Given the description of an element on the screen output the (x, y) to click on. 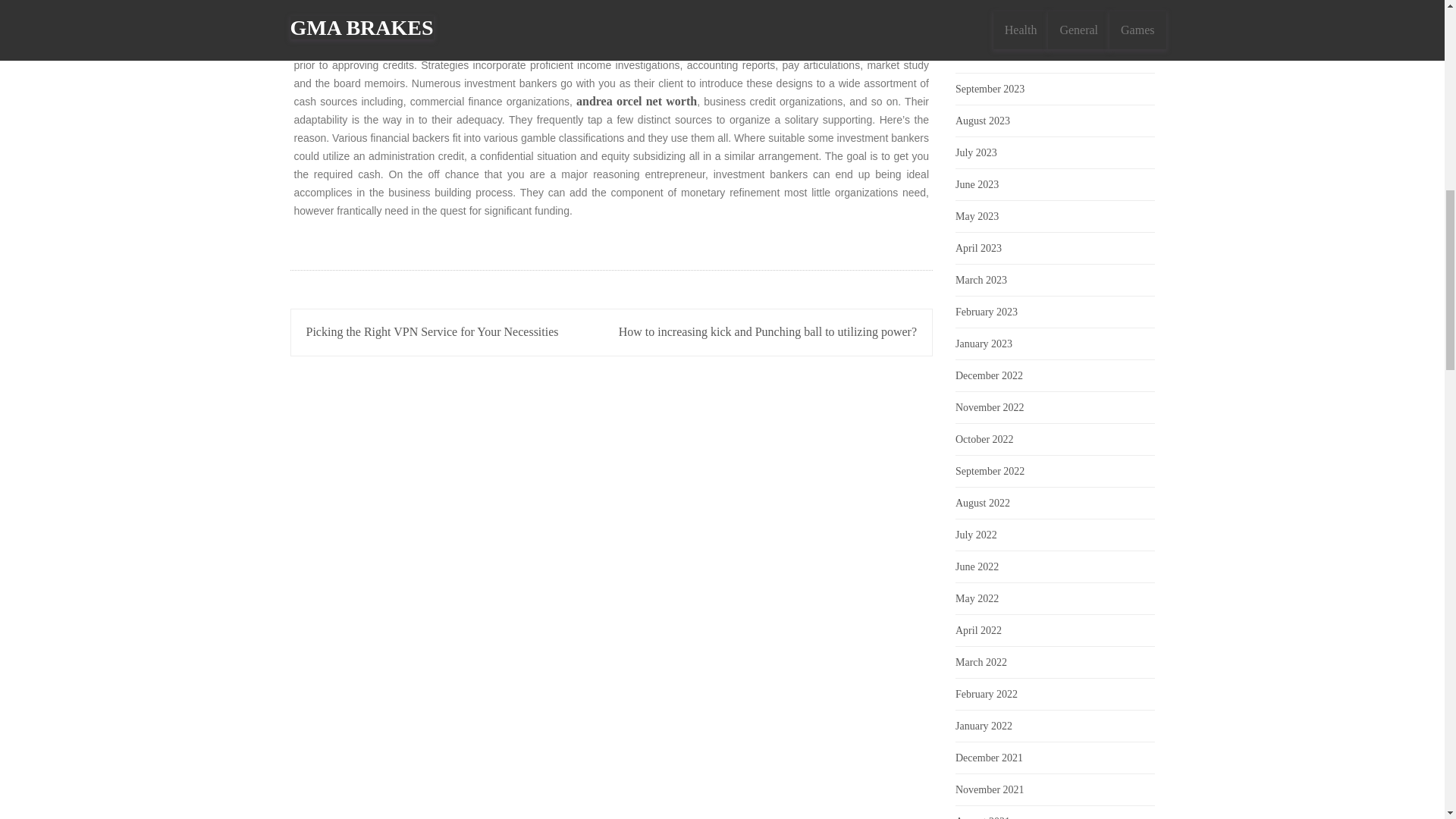
July 2023 (976, 152)
August 2022 (982, 502)
June 2023 (976, 184)
Picking the Right VPN Service for Your Necessities (432, 331)
October 2022 (984, 439)
January 2023 (983, 343)
December 2023 (989, 25)
November 2022 (990, 407)
August 2023 (982, 120)
April 2023 (978, 247)
March 2023 (981, 279)
February 2023 (986, 311)
September 2022 (990, 471)
September 2023 (990, 89)
December 2022 (989, 375)
